Given the description of an element on the screen output the (x, y) to click on. 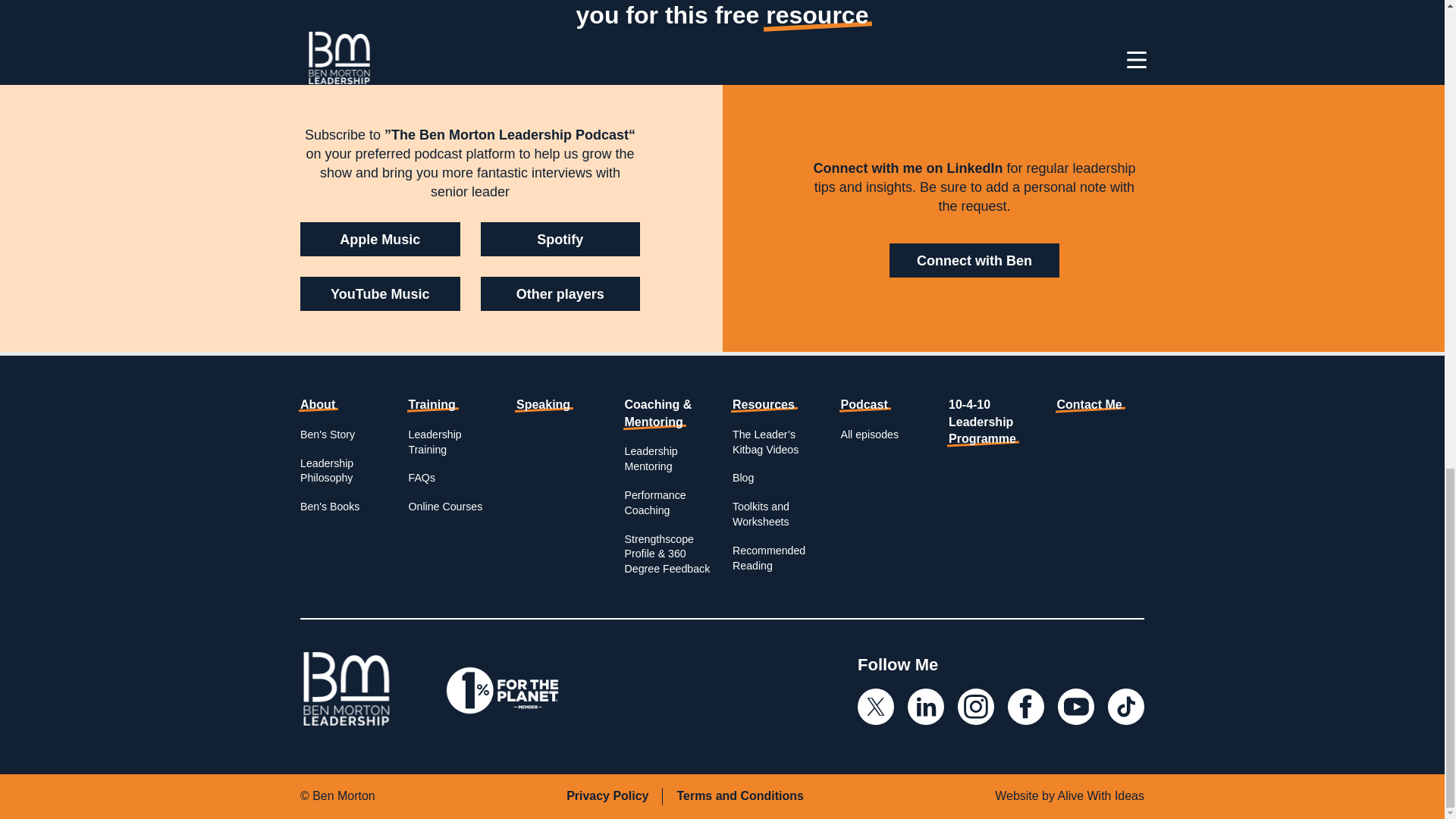
Apple Music (379, 238)
Other players (560, 293)
Training (430, 404)
FAQs (420, 477)
Leadership Philosophy (326, 470)
Ben's Story (327, 434)
Connect with Ben (974, 260)
Ben's Books (329, 506)
YouTube Music (379, 293)
About (316, 404)
Spotify (560, 238)
Leadership Training (434, 441)
